Given the description of an element on the screen output the (x, y) to click on. 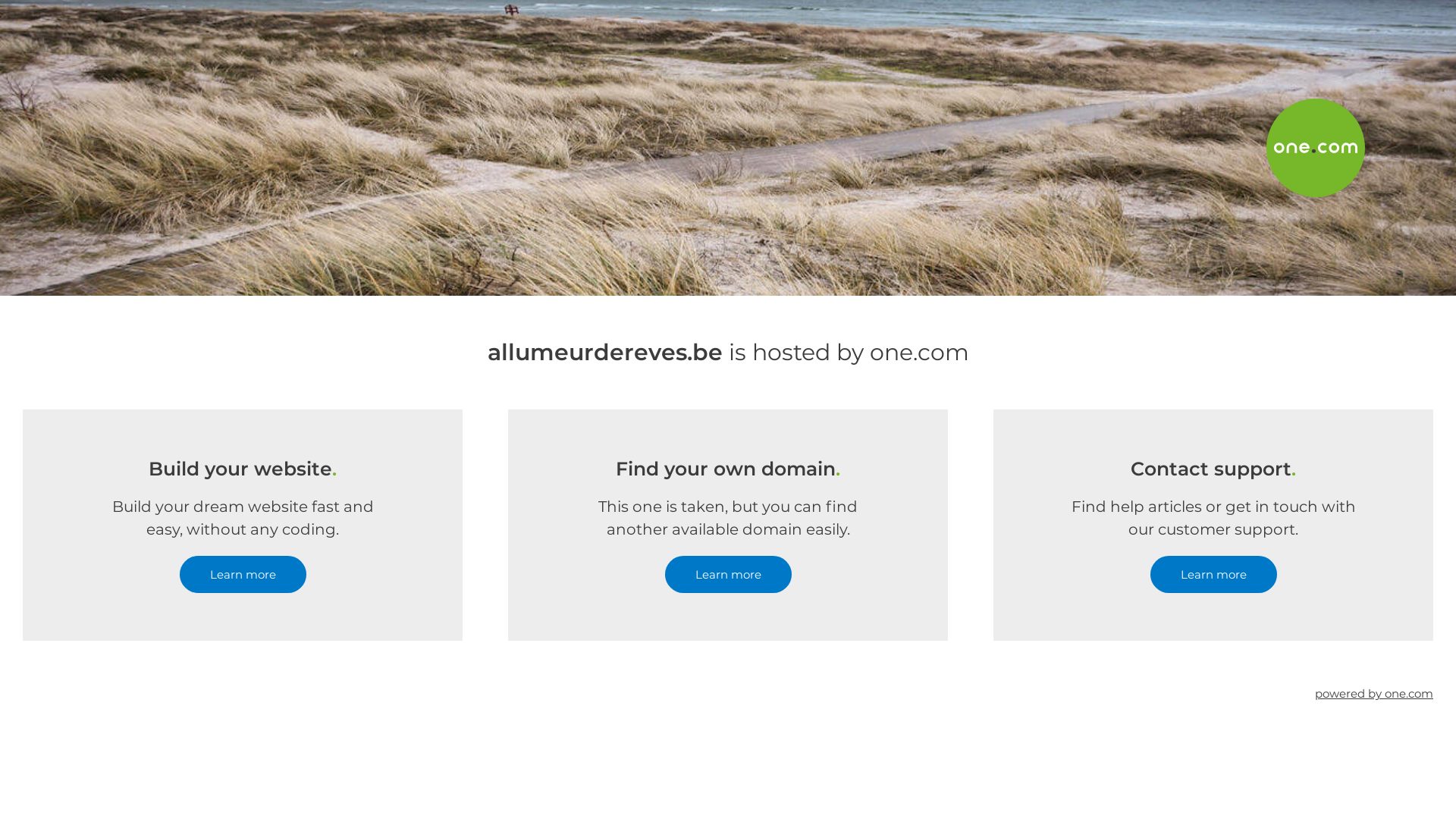
powered by one.com Element type: text (1373, 693)
Learn more Element type: text (1212, 574)
Learn more Element type: text (241, 574)
Learn more Element type: text (727, 574)
